Given the description of an element on the screen output the (x, y) to click on. 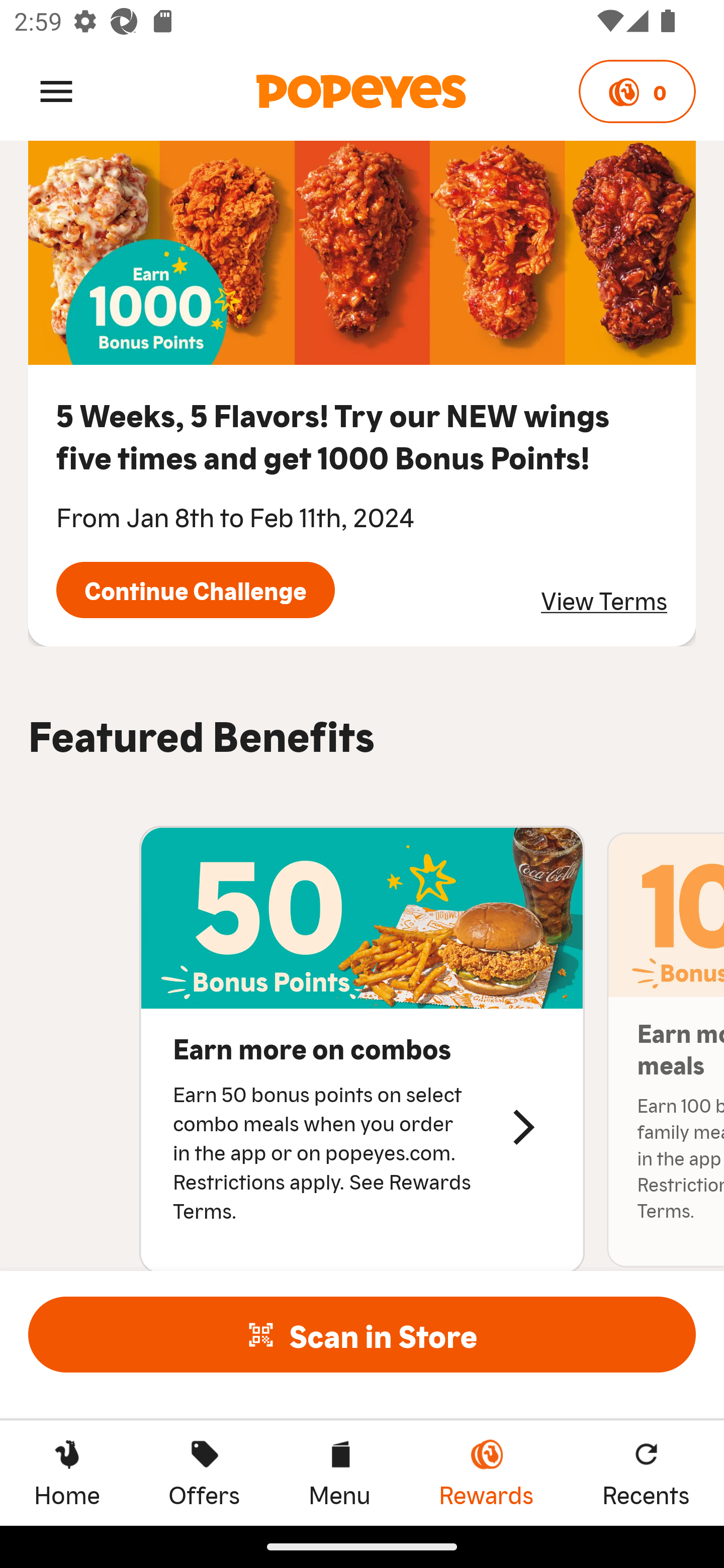
Menu  (56, 90)
0 Points 0 (636, 91)
quest image (361, 253)
Continue Challenge (195, 589)
View Terms (603, 599)
Scan in Store  Scan in Store (361, 1334)
Home Home Home (66, 1472)
Offers Offers Offers (203, 1472)
Menu Menu Menu (339, 1472)
Recents Recents Recents (646, 1472)
